Given the description of an element on the screen output the (x, y) to click on. 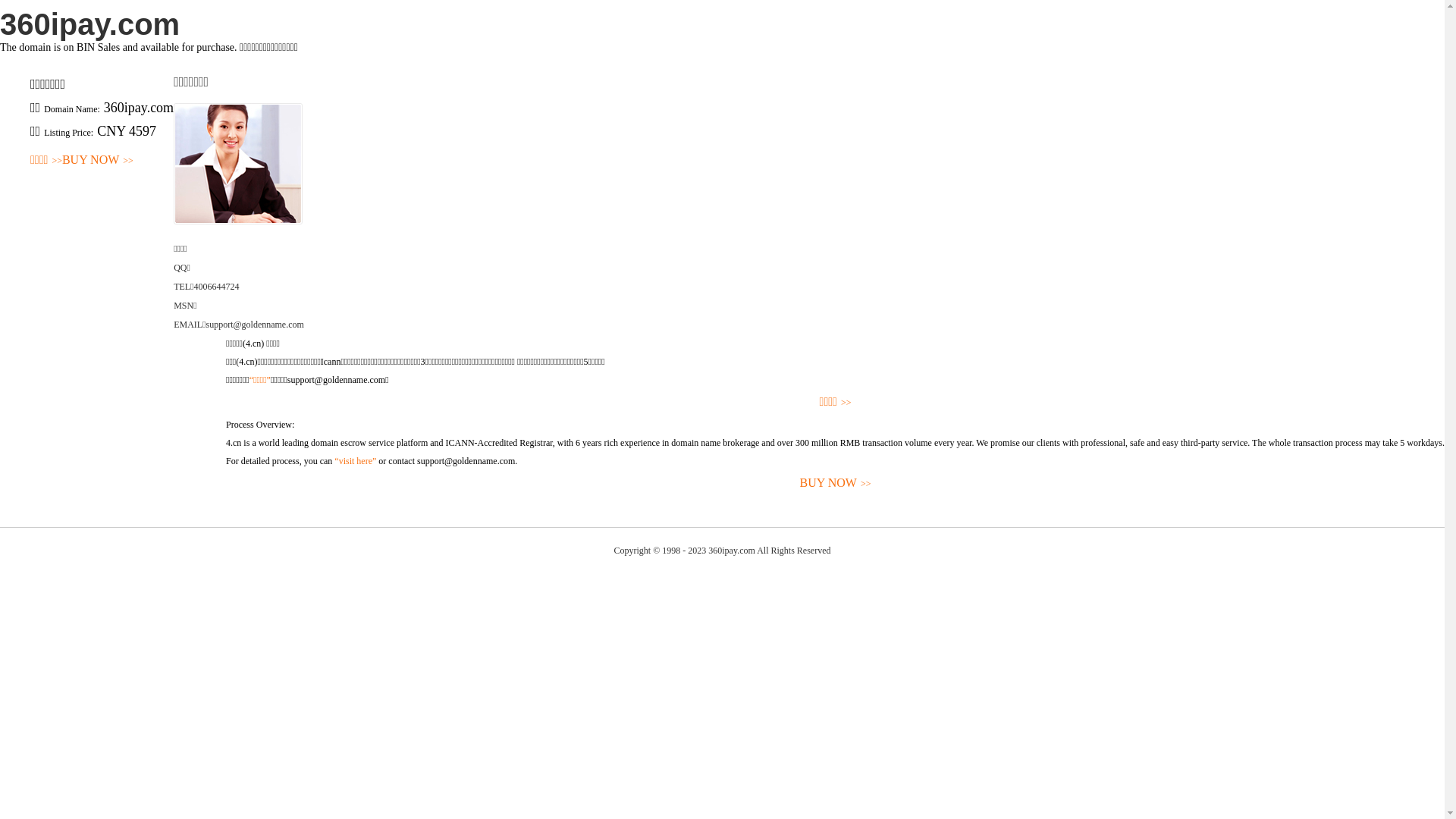
BUY NOW>> Element type: text (834, 483)
BUY NOW>> Element type: text (97, 160)
